Given the description of an element on the screen output the (x, y) to click on. 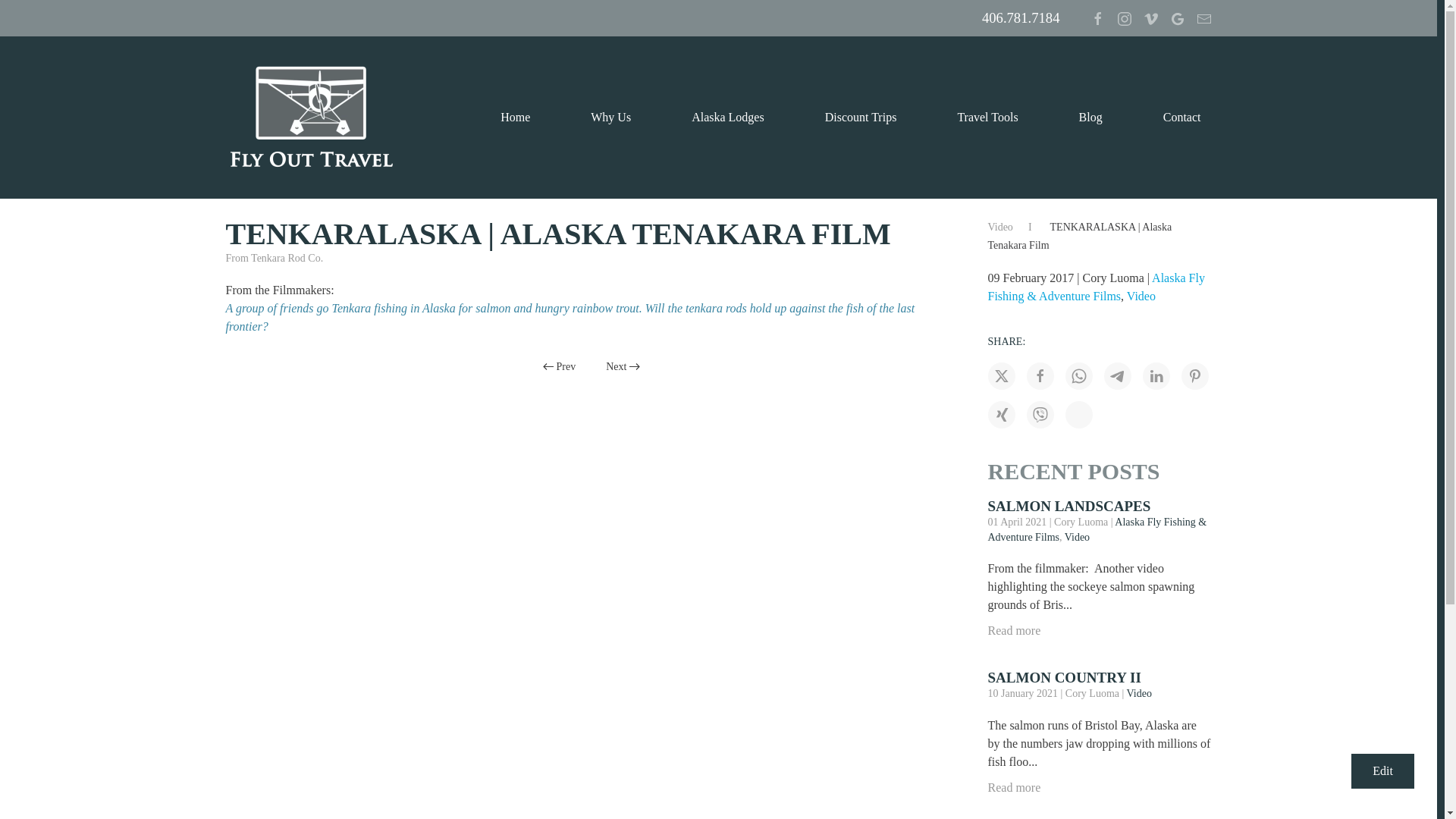
Alaska Lodges (727, 117)
Why Us (610, 117)
406.781.7184 (1020, 19)
Home (514, 117)
